Given the description of an element on the screen output the (x, y) to click on. 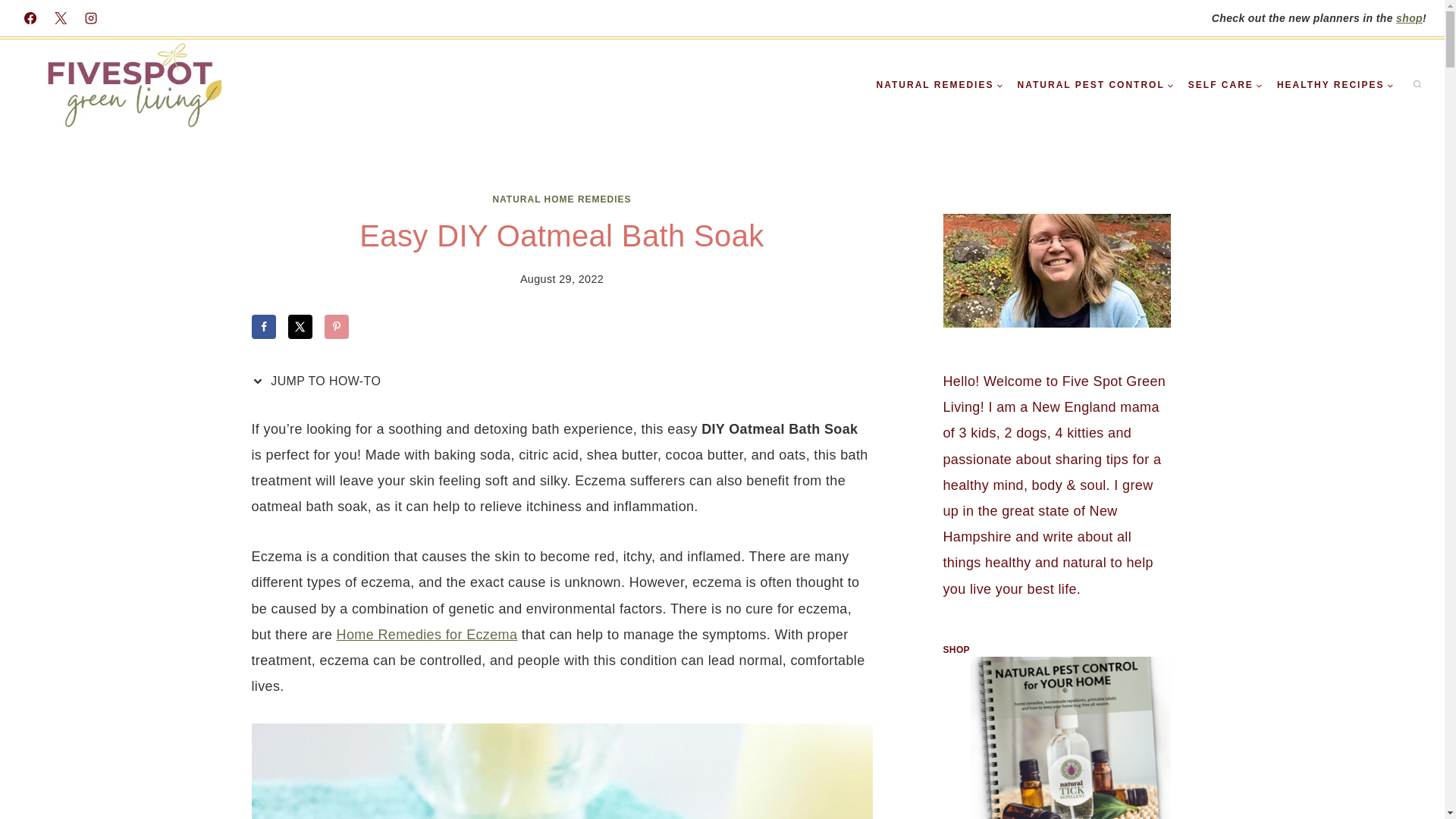
NATURAL HOME REMEDIES (561, 199)
NATURAL REMEDIES (939, 85)
Home Remedies for Eczema (427, 634)
SELF CARE (1224, 85)
Save to Pinterest (336, 326)
JUMP TO HOW-TO (319, 381)
NATURAL PEST CONTROL (1095, 85)
HEALTHY RECIPES (1334, 85)
shop (1409, 18)
Share on Facebook (263, 326)
Share on X (300, 326)
